Given the description of an element on the screen output the (x, y) to click on. 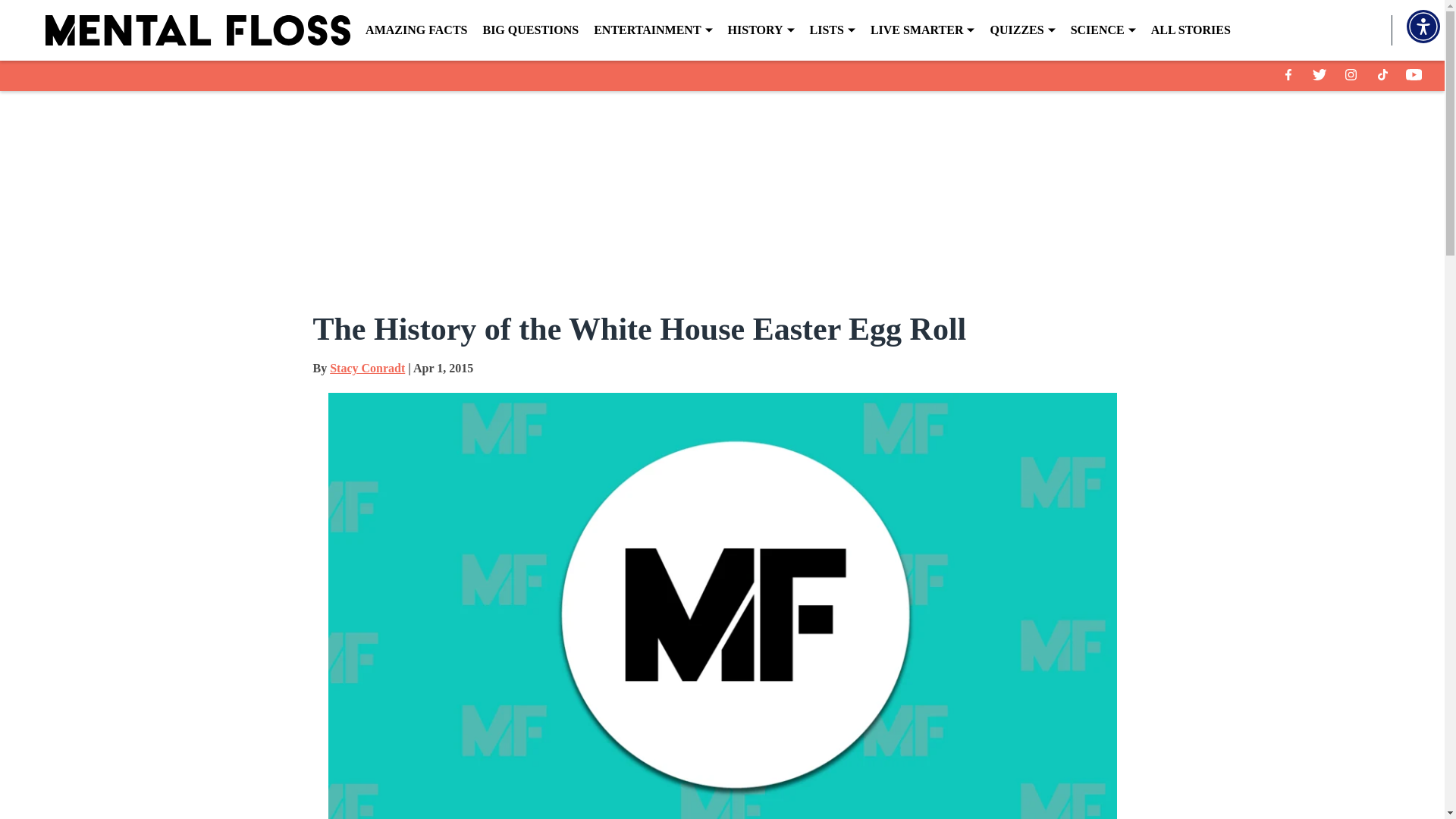
BIG QUESTIONS (529, 30)
ALL STORIES (1190, 30)
AMAZING FACTS (416, 30)
Accessibility Menu (1422, 26)
